Given the description of an element on the screen output the (x, y) to click on. 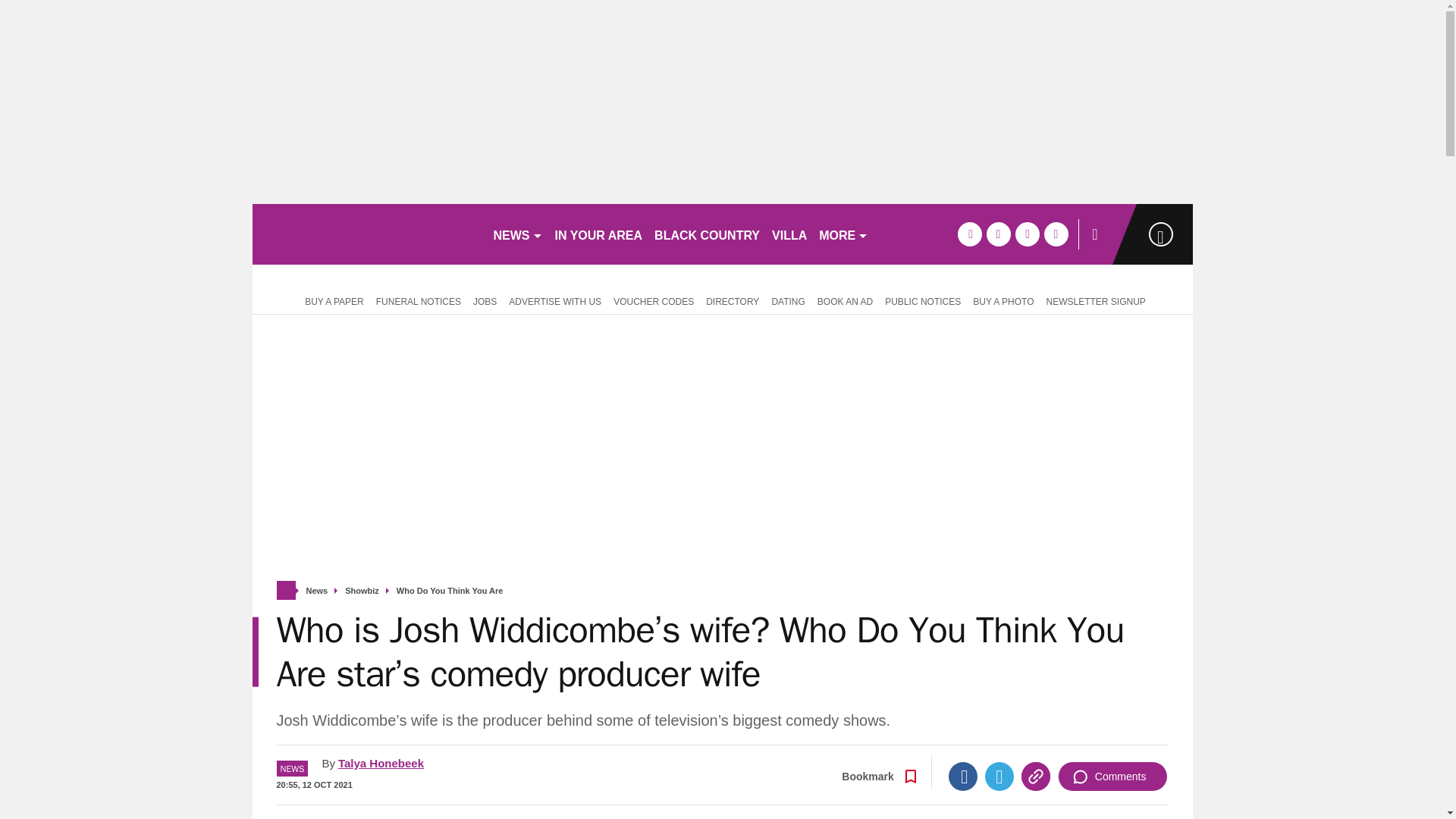
tiktok (1026, 233)
birminghammail (365, 233)
NEWS (517, 233)
instagram (1055, 233)
Comments (1112, 776)
Facebook (962, 776)
twitter (997, 233)
facebook (968, 233)
BLACK COUNTRY (706, 233)
IN YOUR AREA (598, 233)
